Given the description of an element on the screen output the (x, y) to click on. 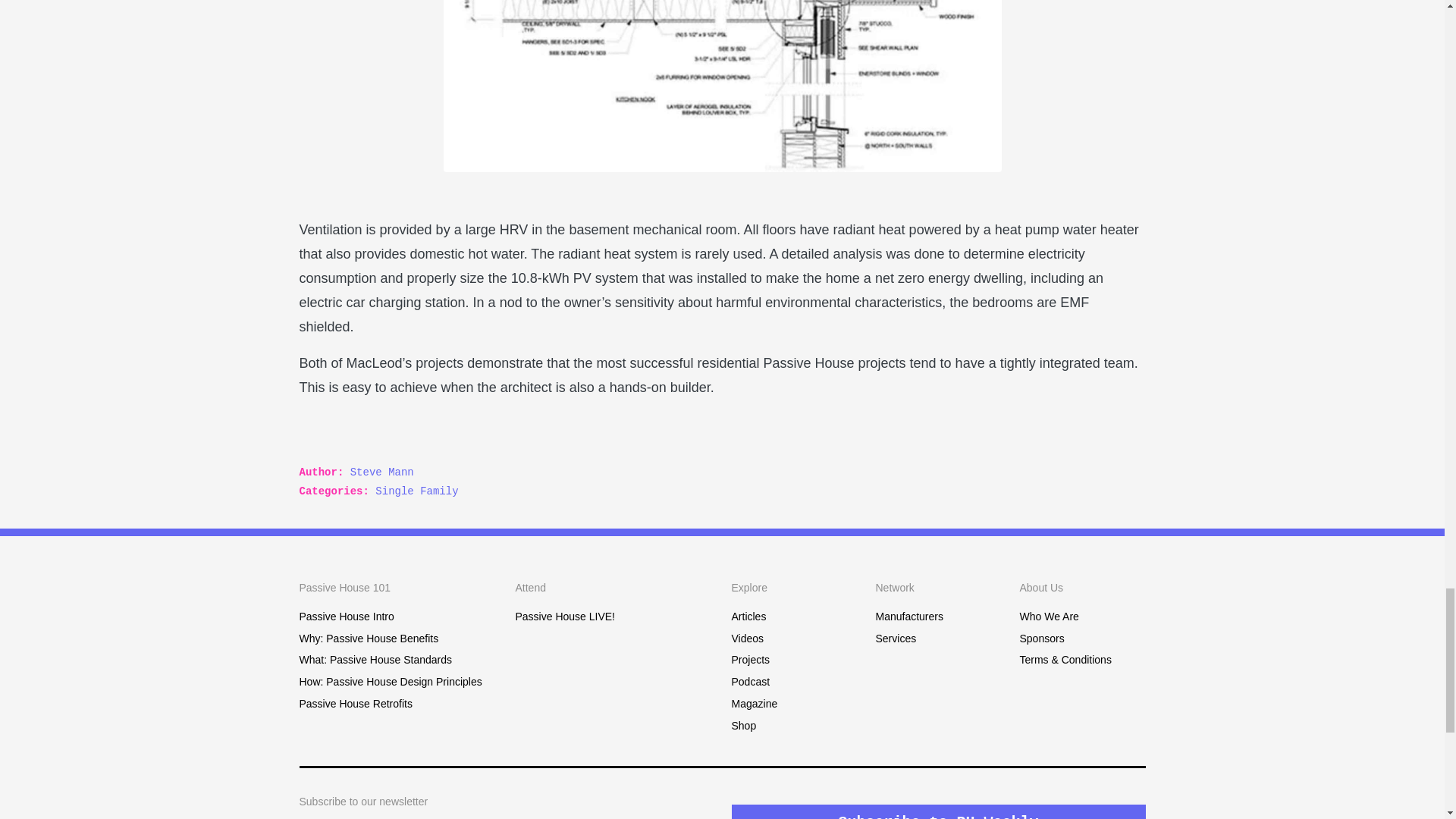
Single Family (416, 491)
Passive House Retrofits (355, 703)
Passive House Intro (345, 616)
Videos (746, 638)
How: Passive House Design Principles (389, 681)
Passive House LIVE! (565, 616)
Steve Mann (381, 472)
What: Passive House Standards (374, 659)
Why: Passive House Benefits (368, 638)
Articles (747, 616)
